Given the description of an element on the screen output the (x, y) to click on. 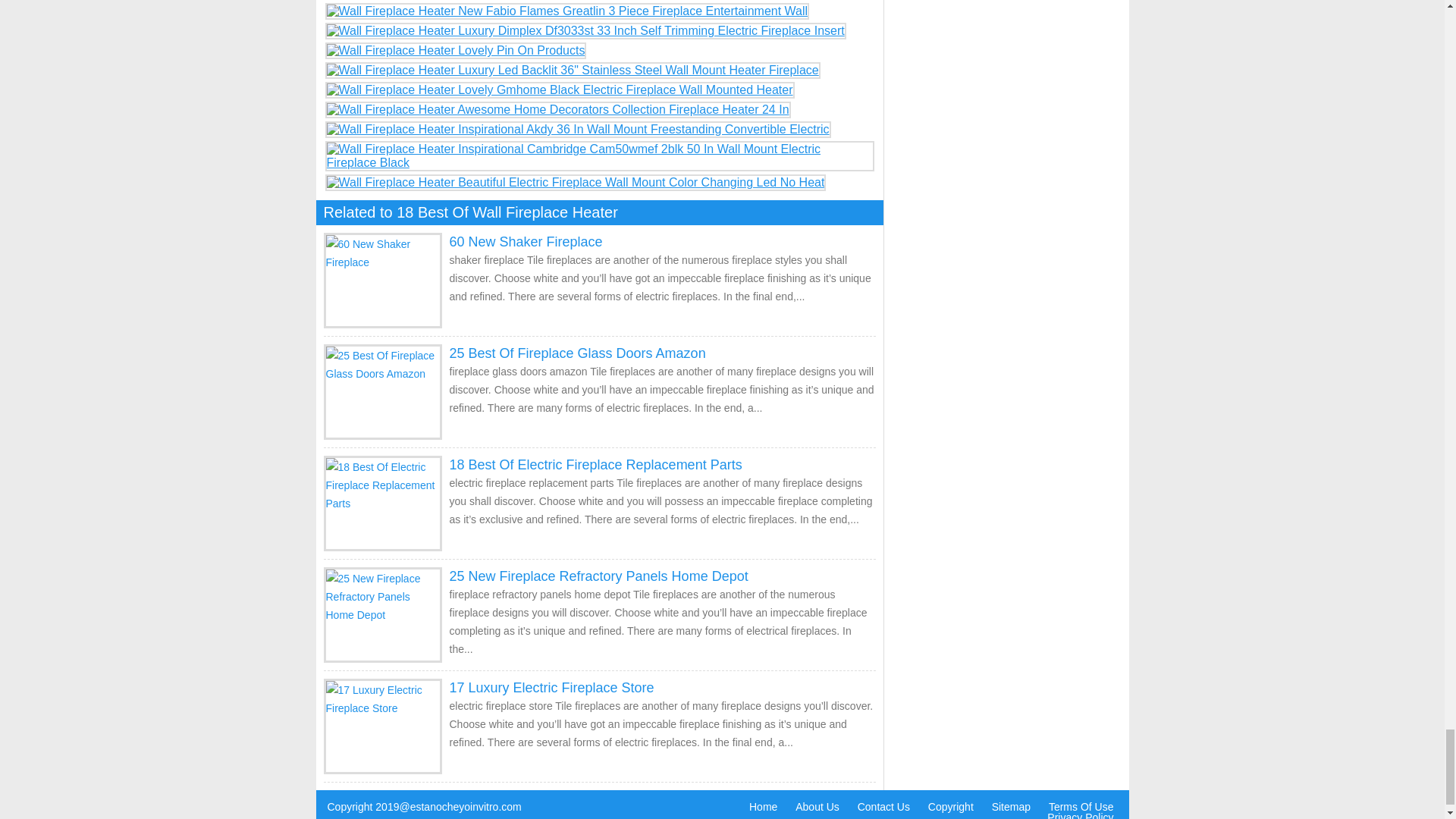
25 New Fireplace Refractory Panels Home Depot (598, 575)
18 Best Of Electric Fireplace Replacement Parts (594, 464)
60 New Shaker Fireplace (525, 241)
25 Best Of Fireplace Glass Doors Amazon (576, 353)
